Given the description of an element on the screen output the (x, y) to click on. 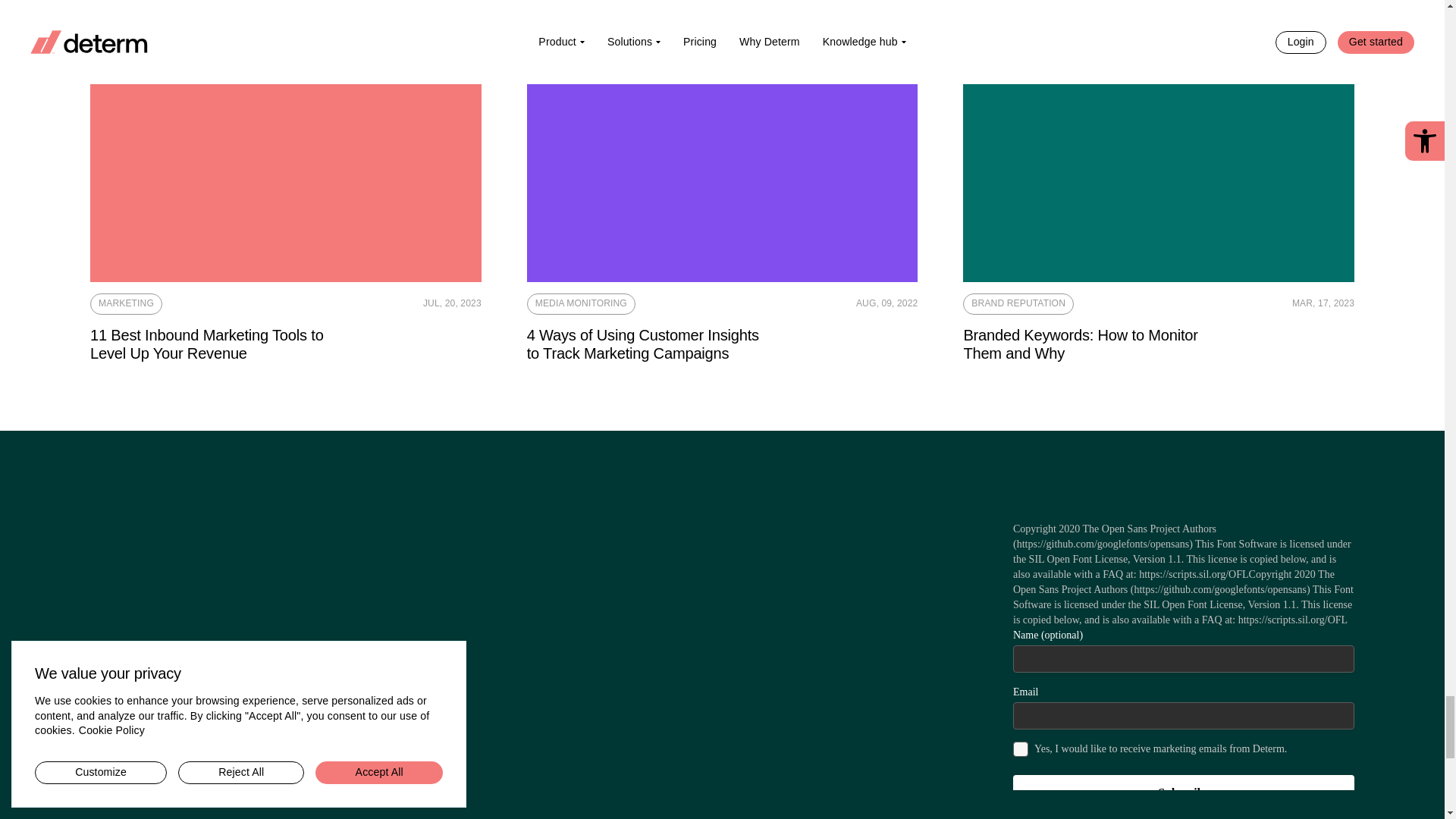
Web Forms (1183, 655)
